Given the description of an element on the screen output the (x, y) to click on. 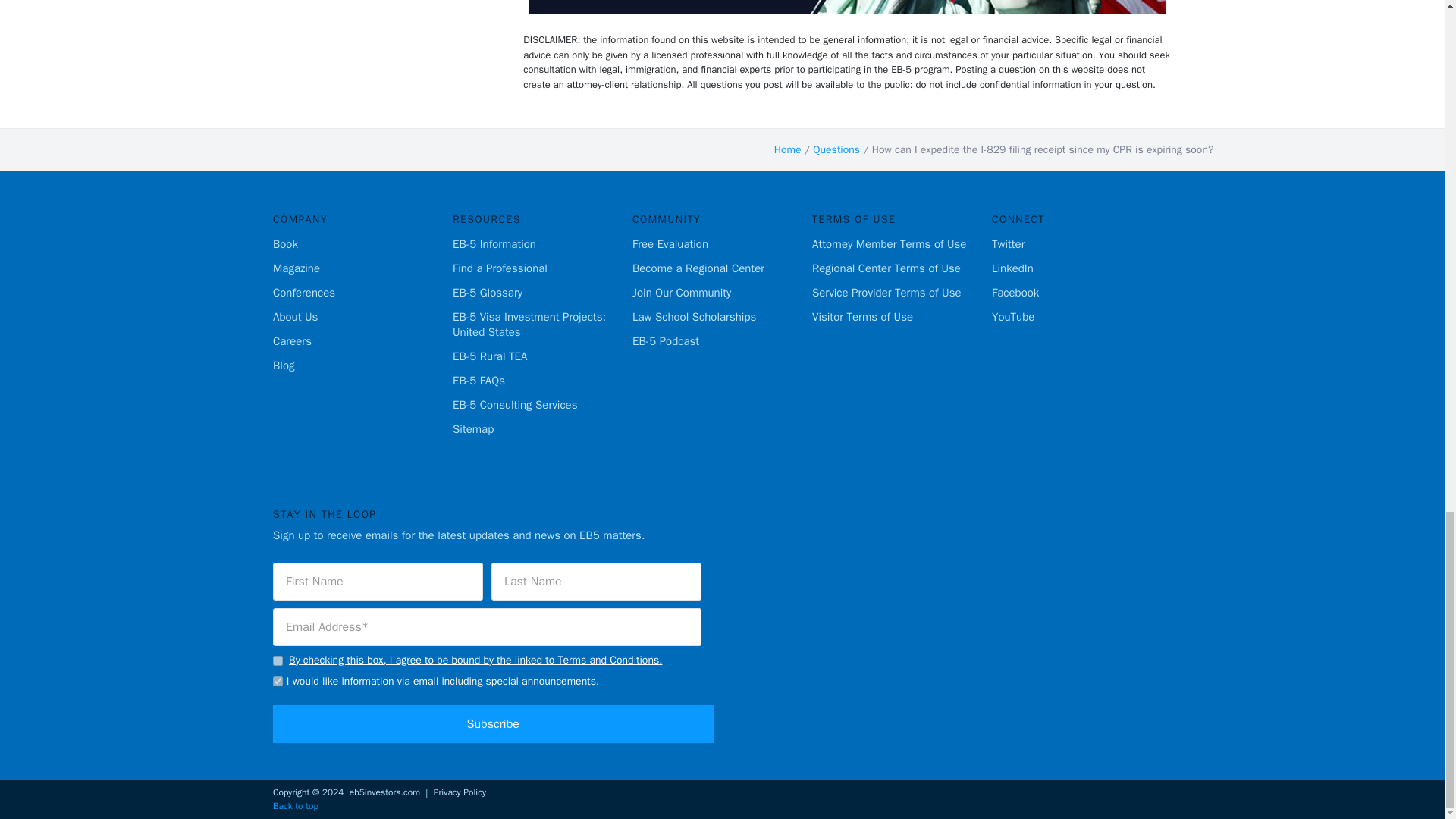
1 (277, 660)
Subscribe (493, 723)
